Given the description of an element on the screen output the (x, y) to click on. 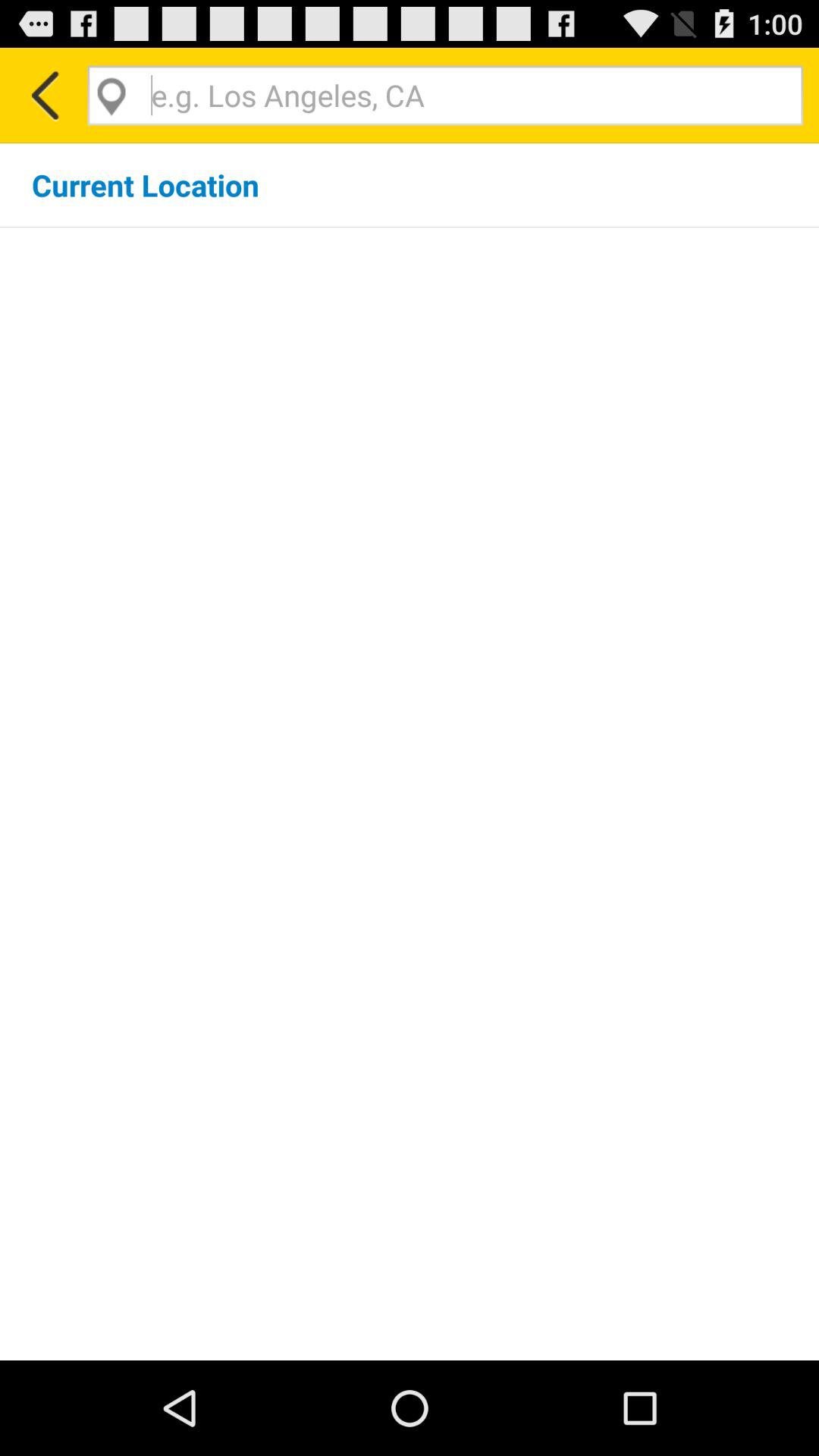
go back (43, 95)
